Given the description of an element on the screen output the (x, y) to click on. 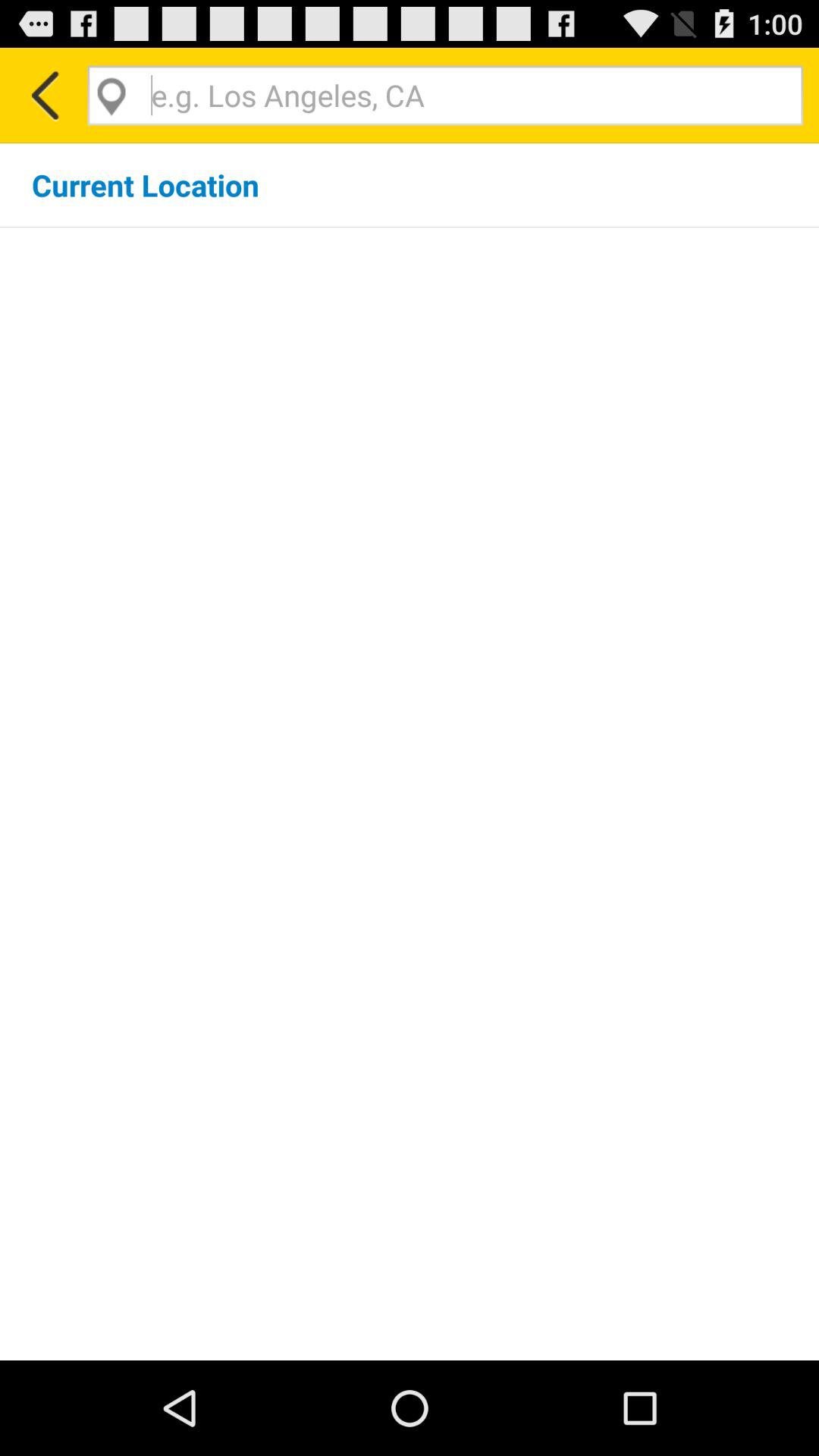
go back (43, 95)
